Given the description of an element on the screen output the (x, y) to click on. 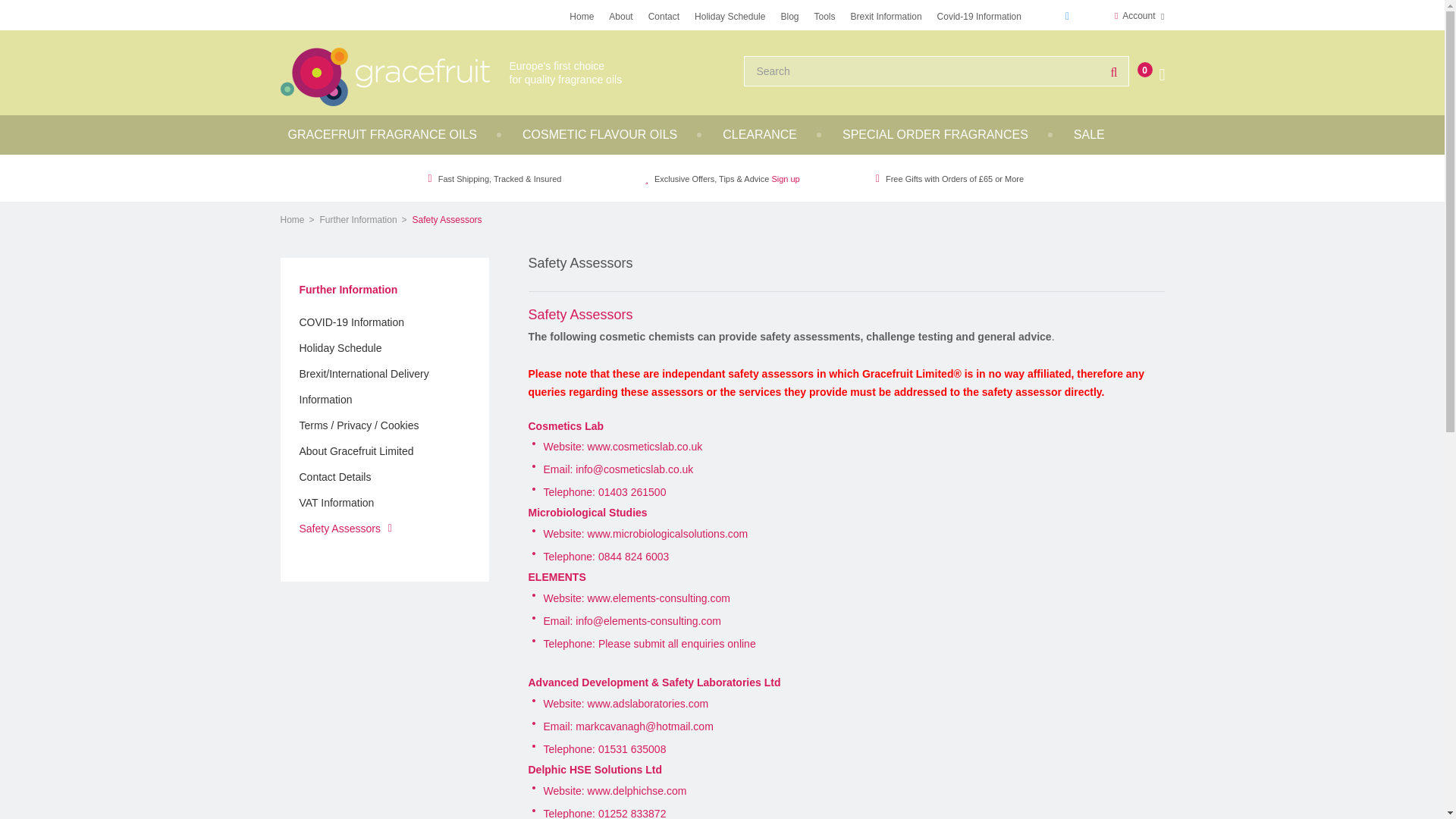
Holiday Schedule (339, 347)
Contact (663, 15)
Further Information (358, 219)
Brexit Information (886, 15)
Contact Details (334, 476)
Holiday Schedule (730, 15)
Covid-19 Information (979, 15)
Tools (824, 15)
COSMETIC FLAVOUR OILS (599, 134)
Home (581, 15)
Safety Assessors (339, 528)
About (620, 15)
Home (292, 219)
COVID-19 Information (351, 321)
VAT Information (336, 502)
